Given the description of an element on the screen output the (x, y) to click on. 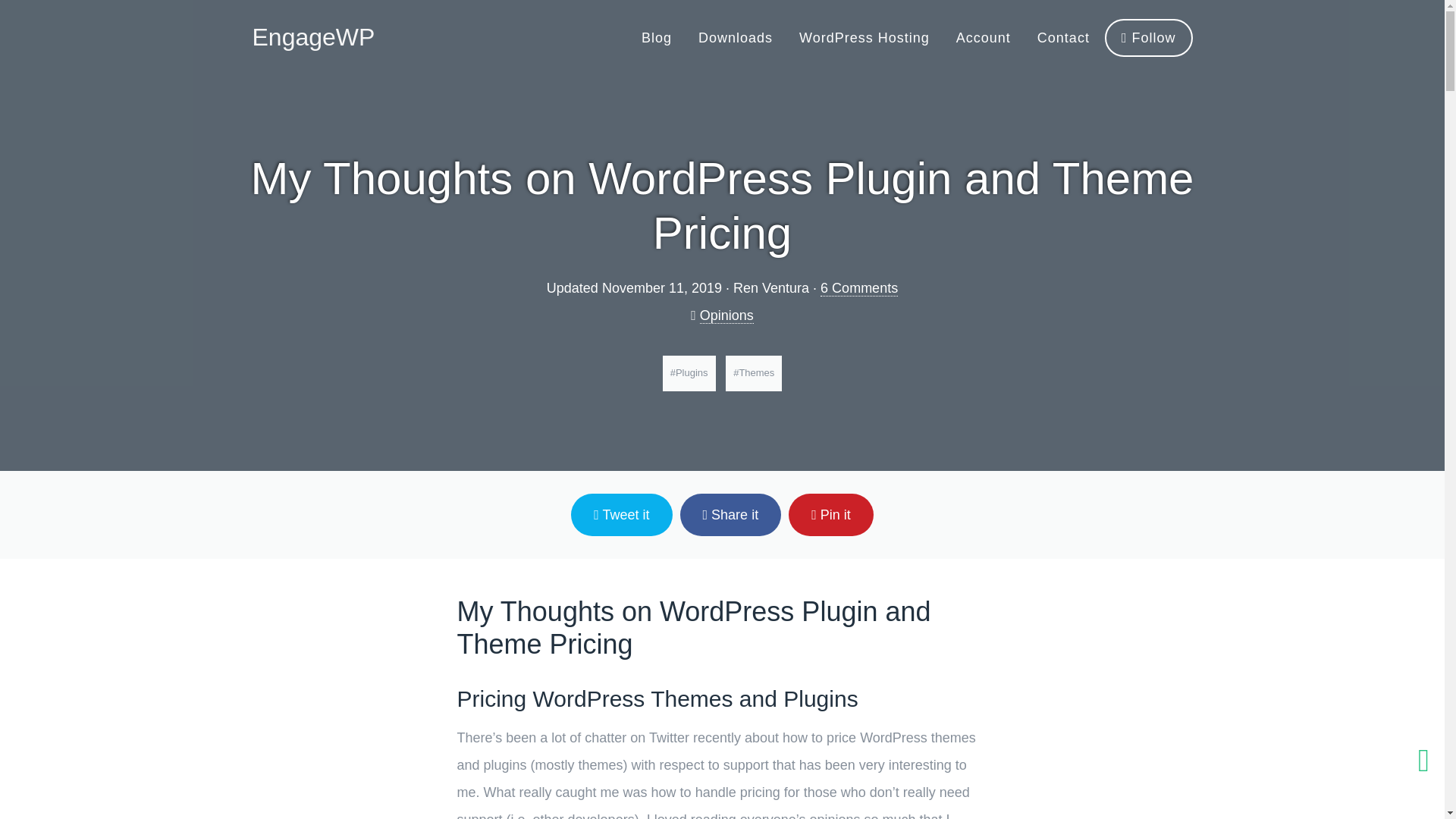
6 Comments (859, 288)
Opinions (727, 315)
Downloads (735, 37)
EngageWP (312, 36)
WordPress Hosting (863, 37)
Tweet it (620, 514)
EngageWP (312, 36)
Themes (753, 373)
Plugins (689, 373)
Contact (1063, 37)
Pin it (831, 514)
Blog (656, 37)
Account (983, 37)
Follow (1148, 37)
Share it (730, 514)
